Given the description of an element on the screen output the (x, y) to click on. 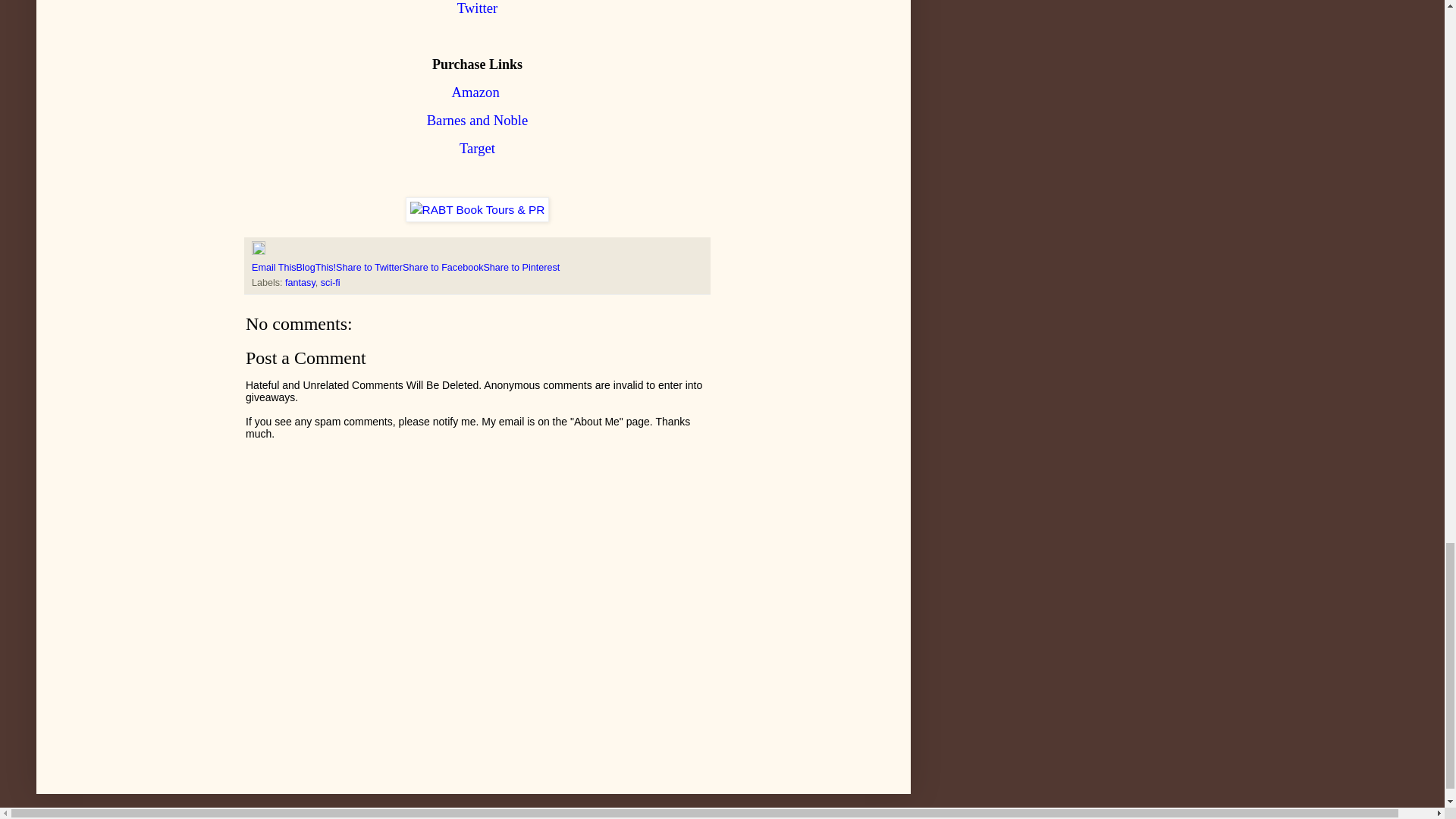
Barnes and Noble (477, 119)
Share to Twitter (369, 267)
Share to Pinterest (521, 267)
sci-fi (330, 282)
Share to Twitter (369, 267)
Email This (274, 267)
BlogThis! (316, 267)
Email This (274, 267)
Twitter (477, 7)
Share to Pinterest (521, 267)
Share to Facebook (443, 267)
Share to Facebook (443, 267)
Target (477, 148)
Amazon  (477, 91)
fantasy (300, 282)
